Given the description of an element on the screen output the (x, y) to click on. 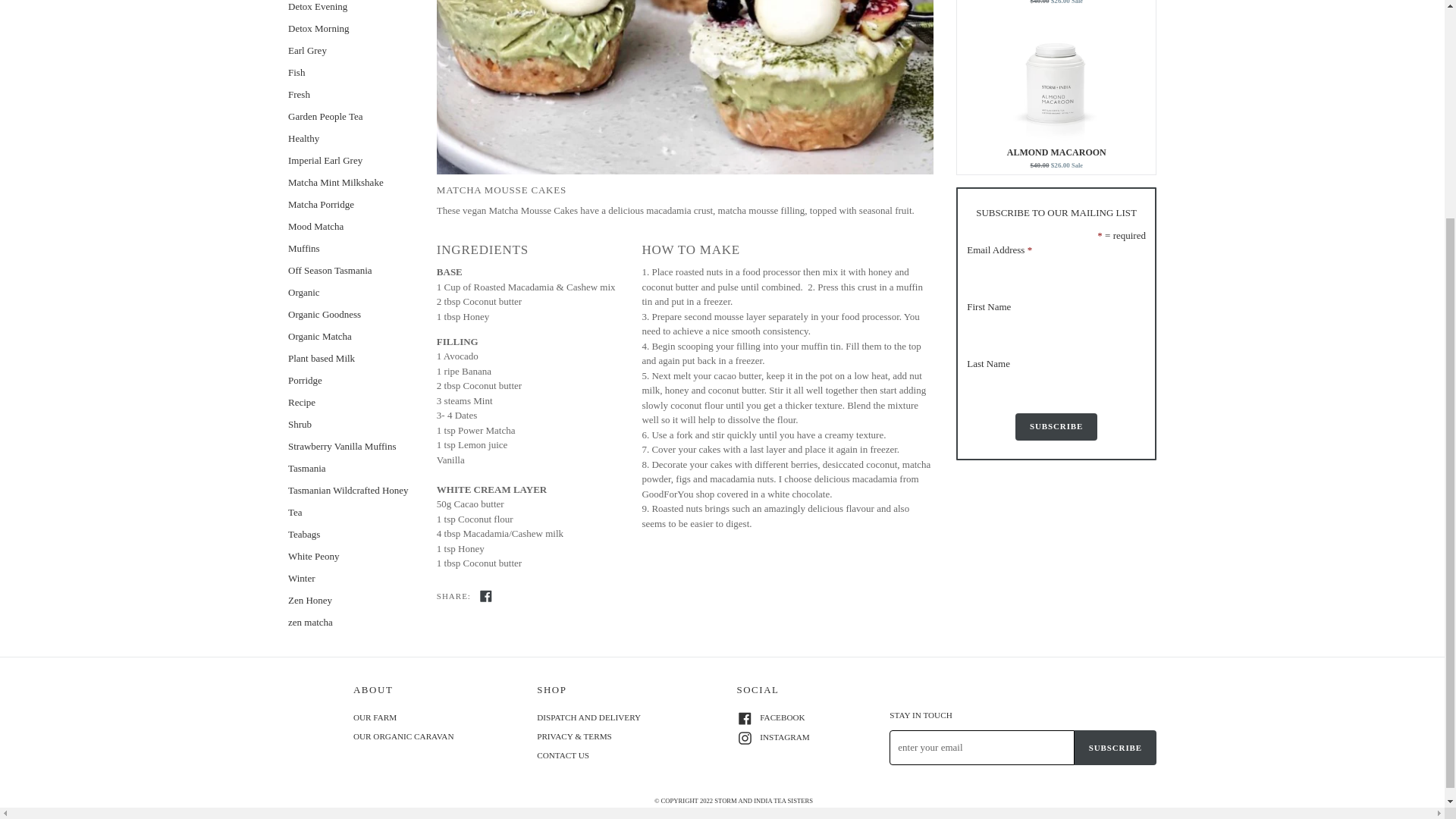
Fresh (350, 93)
Detox Morning (350, 27)
Share on Facebook (486, 595)
Fish (350, 71)
Subscribe (1055, 426)
Earl Grey (350, 49)
Detox Evening (350, 7)
